Given the description of an element on the screen output the (x, y) to click on. 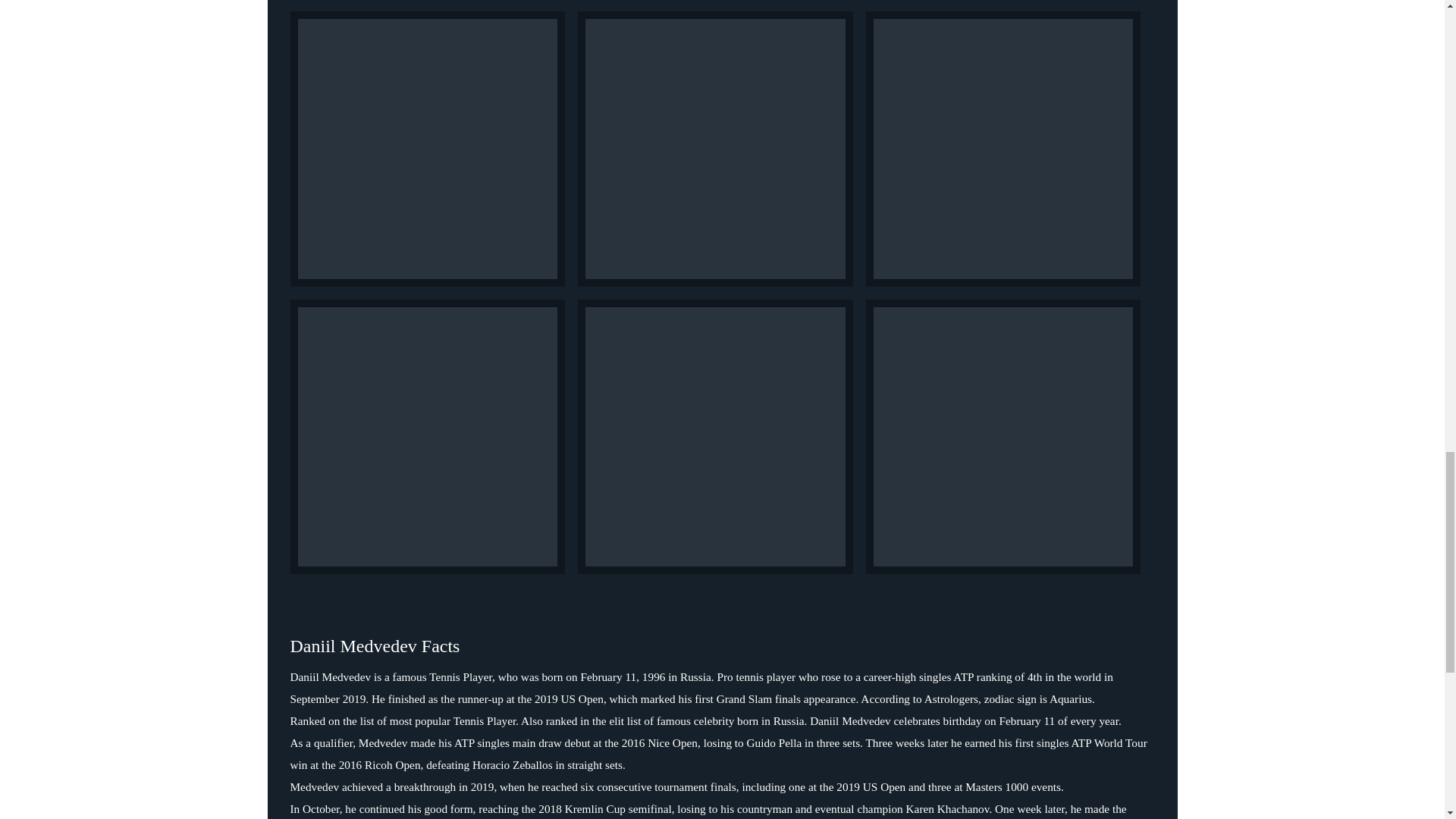
Medvedev Daniil6 (1003, 436)
Medvedev Daniil4 (426, 436)
Medvedev Daniil1 (426, 148)
Medvedev Daniil5 (715, 436)
Medvedev Daniil2 (715, 148)
Medvedev Daniil3 (1003, 148)
